Given the description of an element on the screen output the (x, y) to click on. 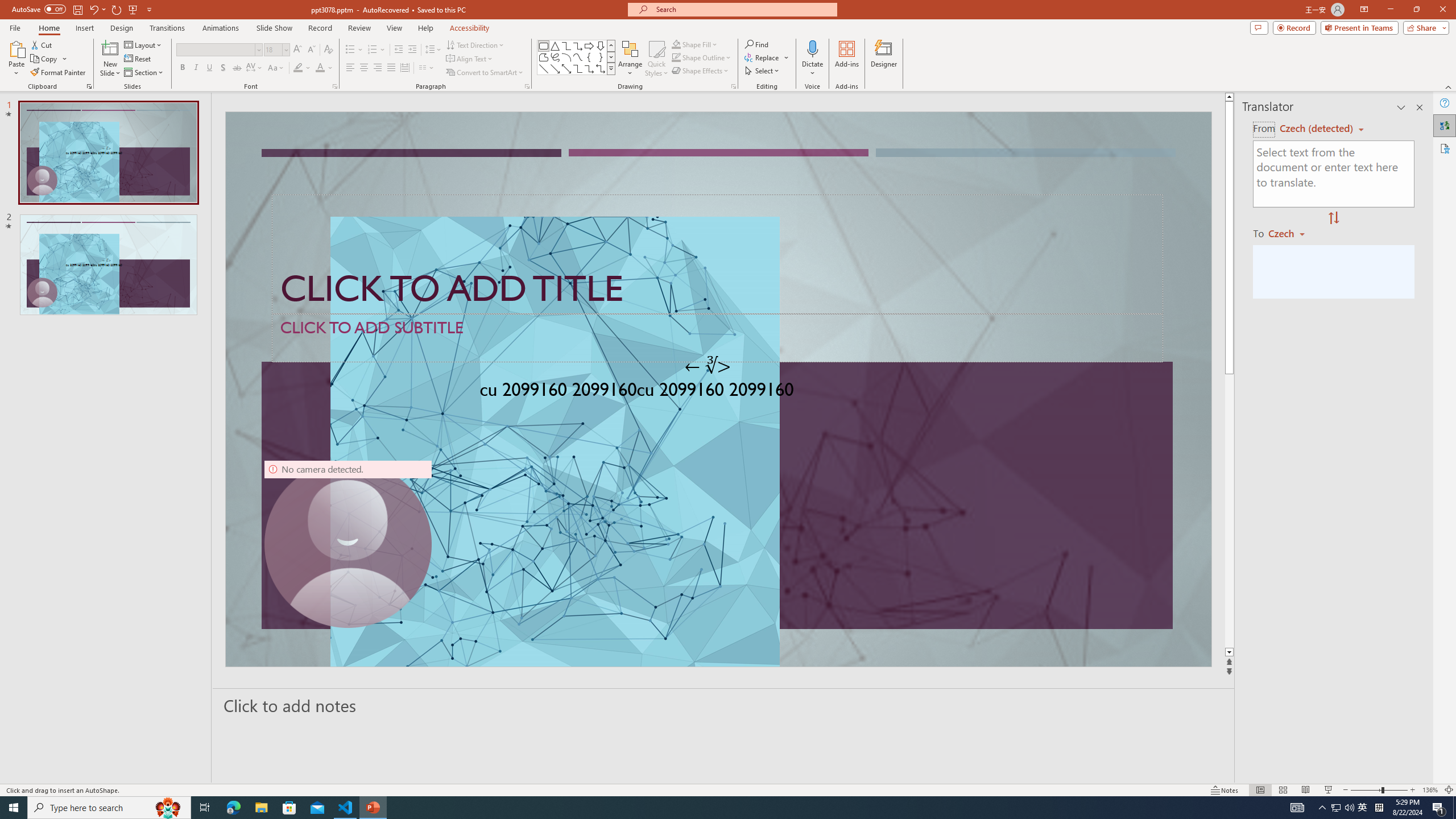
Zoom 136% (1430, 790)
